Given the description of an element on the screen output the (x, y) to click on. 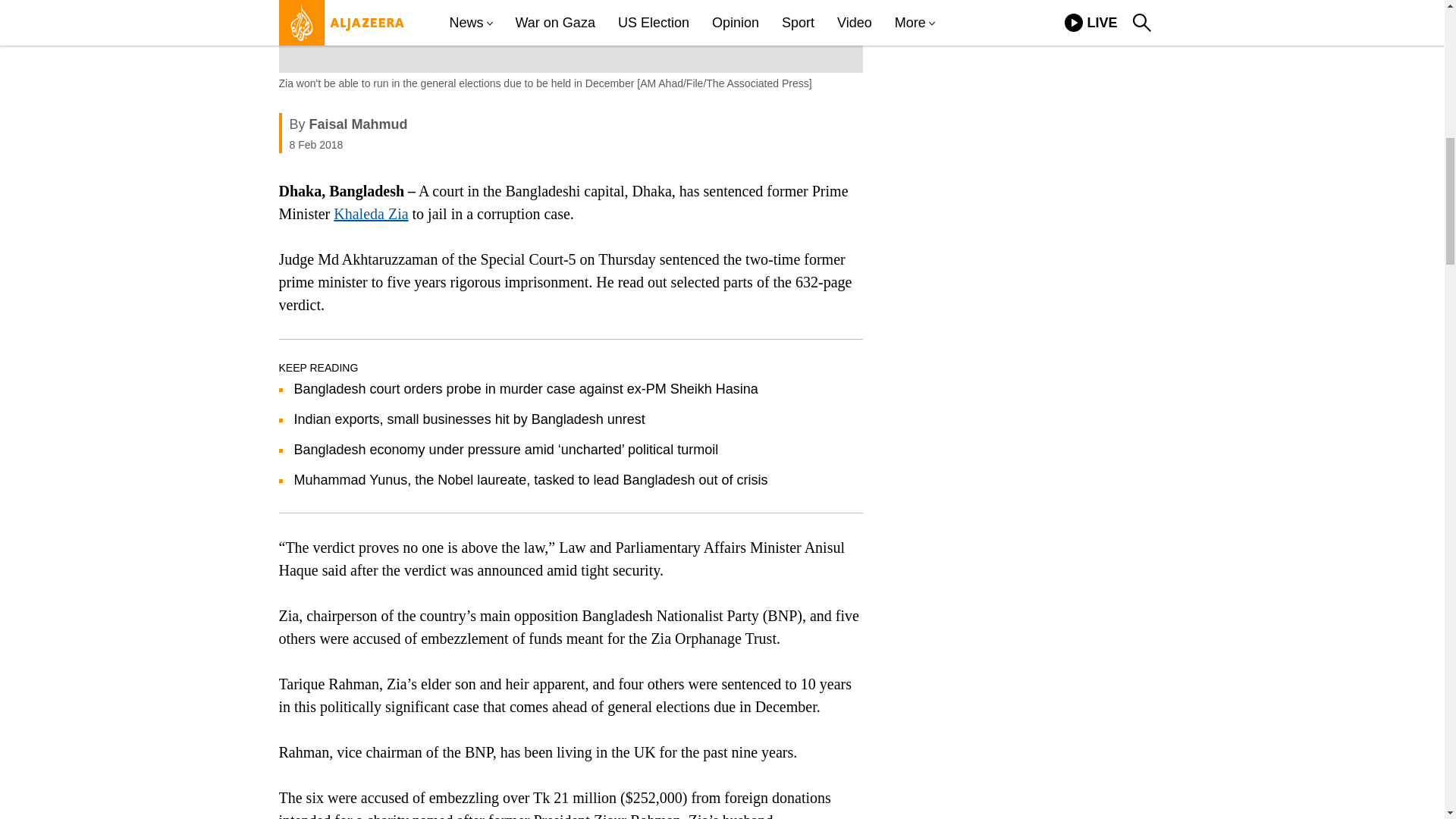
Indian exports, small businesses hit by Bangladesh unrest (469, 418)
Faisal Mahmud (357, 124)
Khaleda Zia (370, 213)
